Given the description of an element on the screen output the (x, y) to click on. 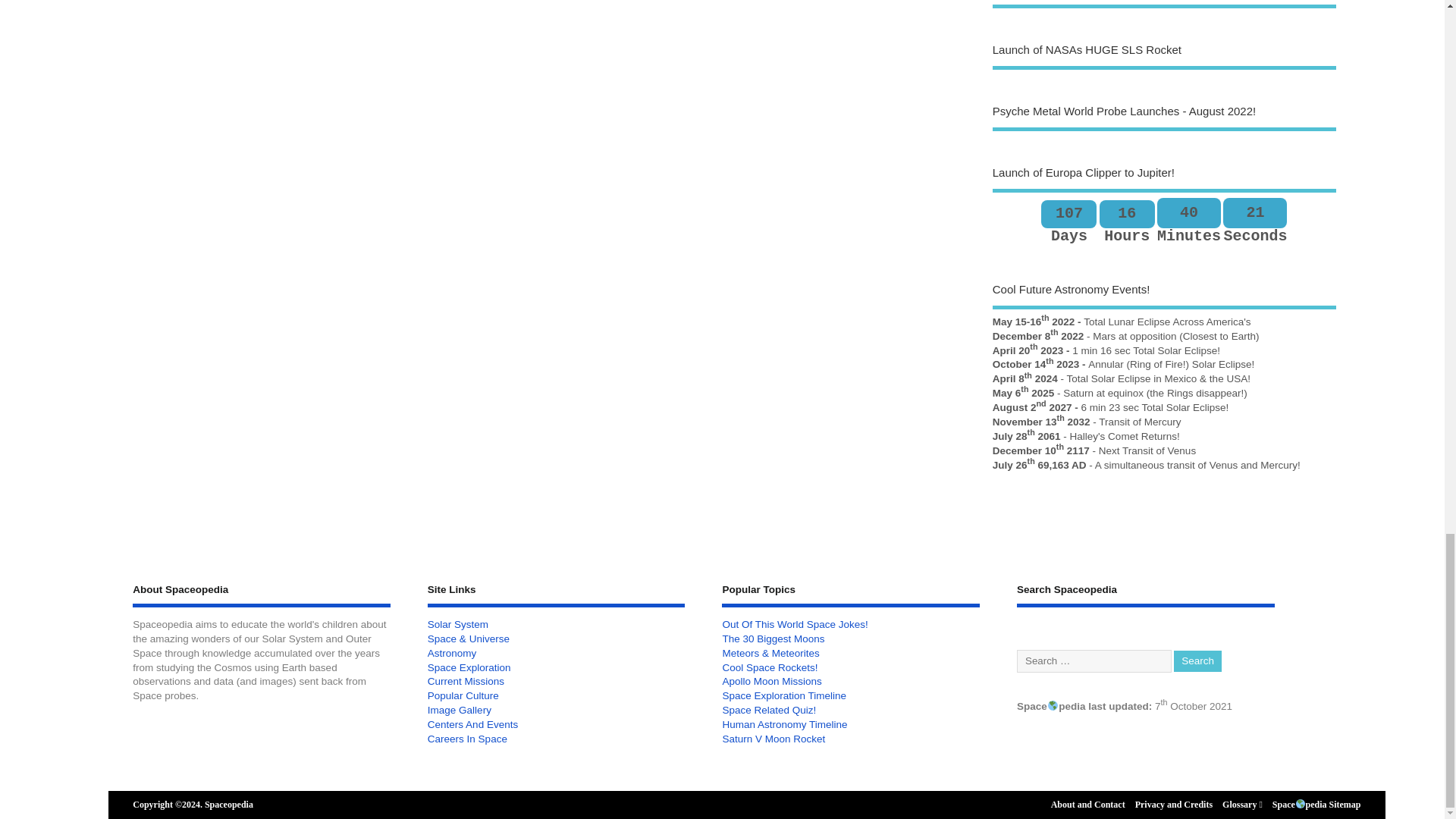
Search (1197, 661)
Search (1197, 661)
